Given the description of an element on the screen output the (x, y) to click on. 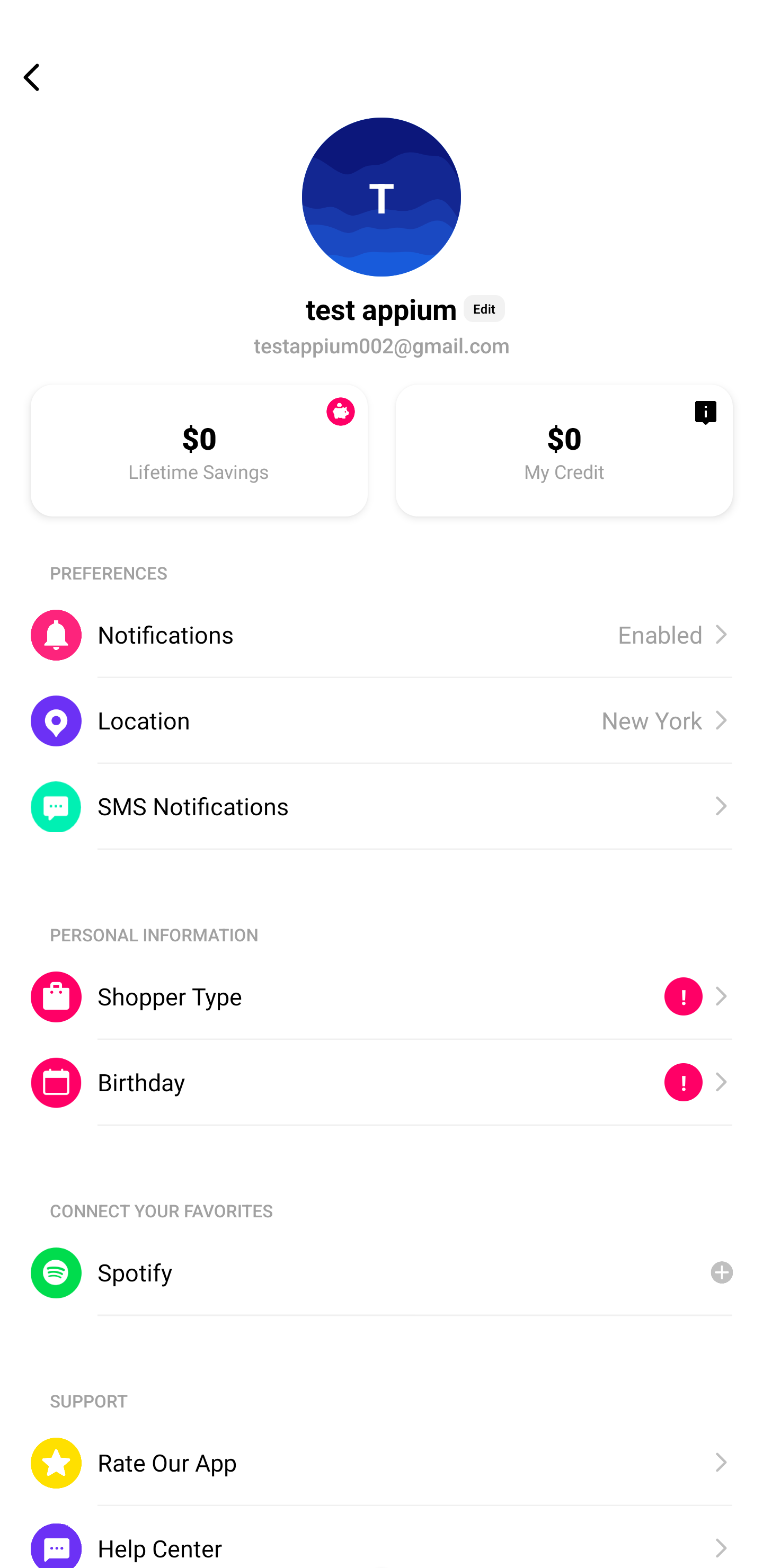
T (381, 196)
Edit (484, 307)
$0, Lifetime Savings $0 Lifetime Savings (198, 449)
$0, My Credit $0 My Credit (563, 449)
Location, New York Location New York (381, 720)
SMS Notifications,    SMS Notifications    (381, 806)
Shopper Type,   , ! Shopper Type    ! (381, 996)
Birthday,   , ! Birthday    ! (381, 1082)
Spotify,    Spotify    (381, 1272)
Rate Our App,    Rate Our App    (381, 1462)
Help Center,    Help Center    (381, 1536)
